Given the description of an element on the screen output the (x, y) to click on. 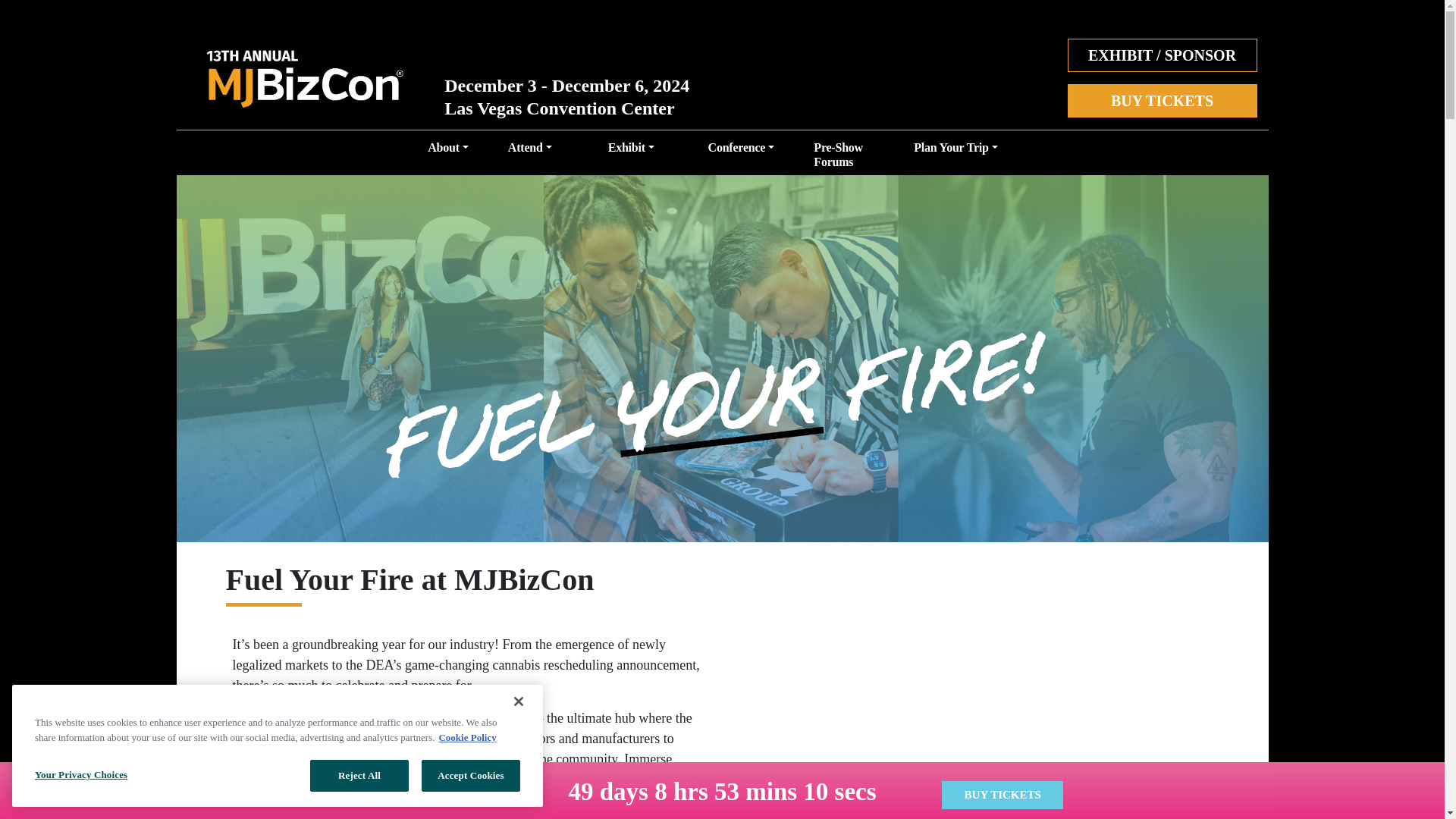
About (448, 155)
Plan Your Trip (955, 155)
Attend (529, 155)
Pre-Show Forums (844, 155)
BUY TICKETS (1162, 100)
Attend (529, 155)
Exhibit (631, 155)
About (448, 155)
Exhibit (631, 155)
BUY TICKETS (1162, 101)
Conference (740, 155)
